Given the description of an element on the screen output the (x, y) to click on. 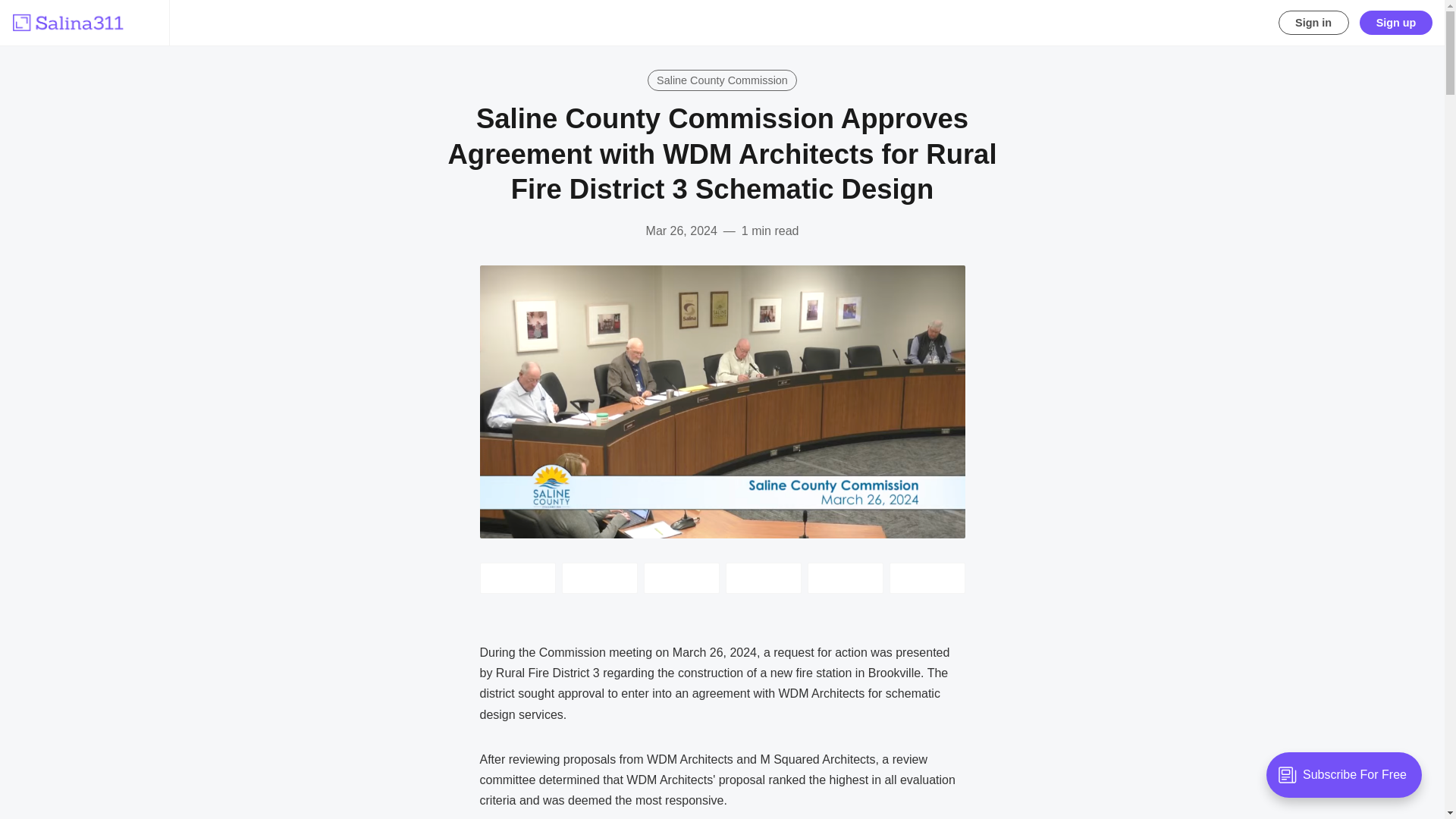
Saline County Commission (722, 79)
Share by email (762, 577)
Sign up (1395, 22)
Share on Twitter (516, 577)
Saline County Commission (722, 79)
Copy to clipboard (844, 577)
Sign in (1313, 22)
Share on Facebook (598, 577)
Menu (144, 22)
Share on Linkedin (681, 577)
Bookmark (925, 577)
